Given the description of an element on the screen output the (x, y) to click on. 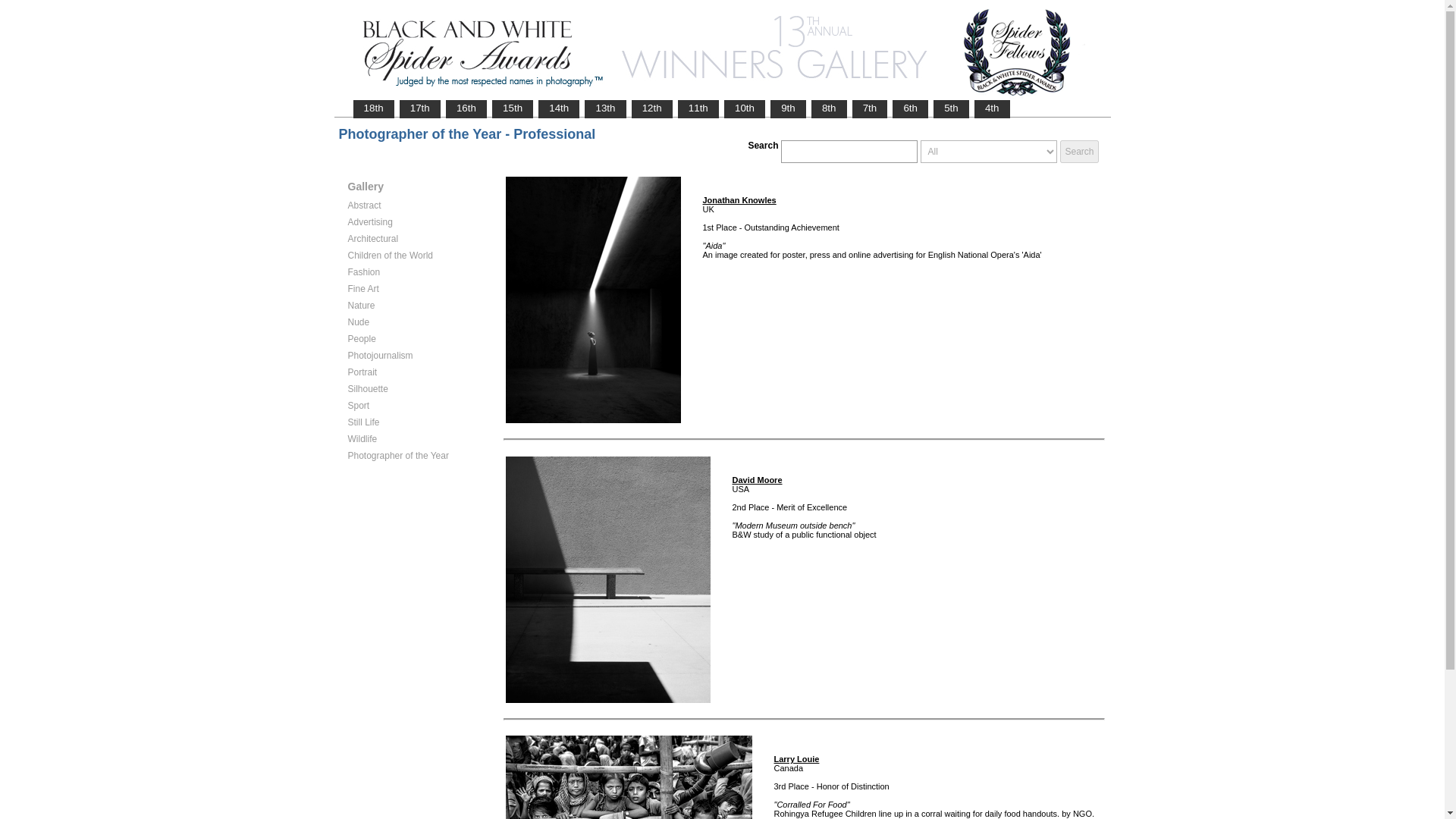
   6th    (910, 107)
David Moore, USA (757, 479)
Larry Louie, Canada (795, 758)
Corralled For Food (628, 777)
   15th    (512, 107)
   12th    (651, 107)
   14th    (558, 107)
Search (1078, 151)
Jonathan Knowles, UK (738, 199)
   16th    (466, 107)
